Given the description of an element on the screen output the (x, y) to click on. 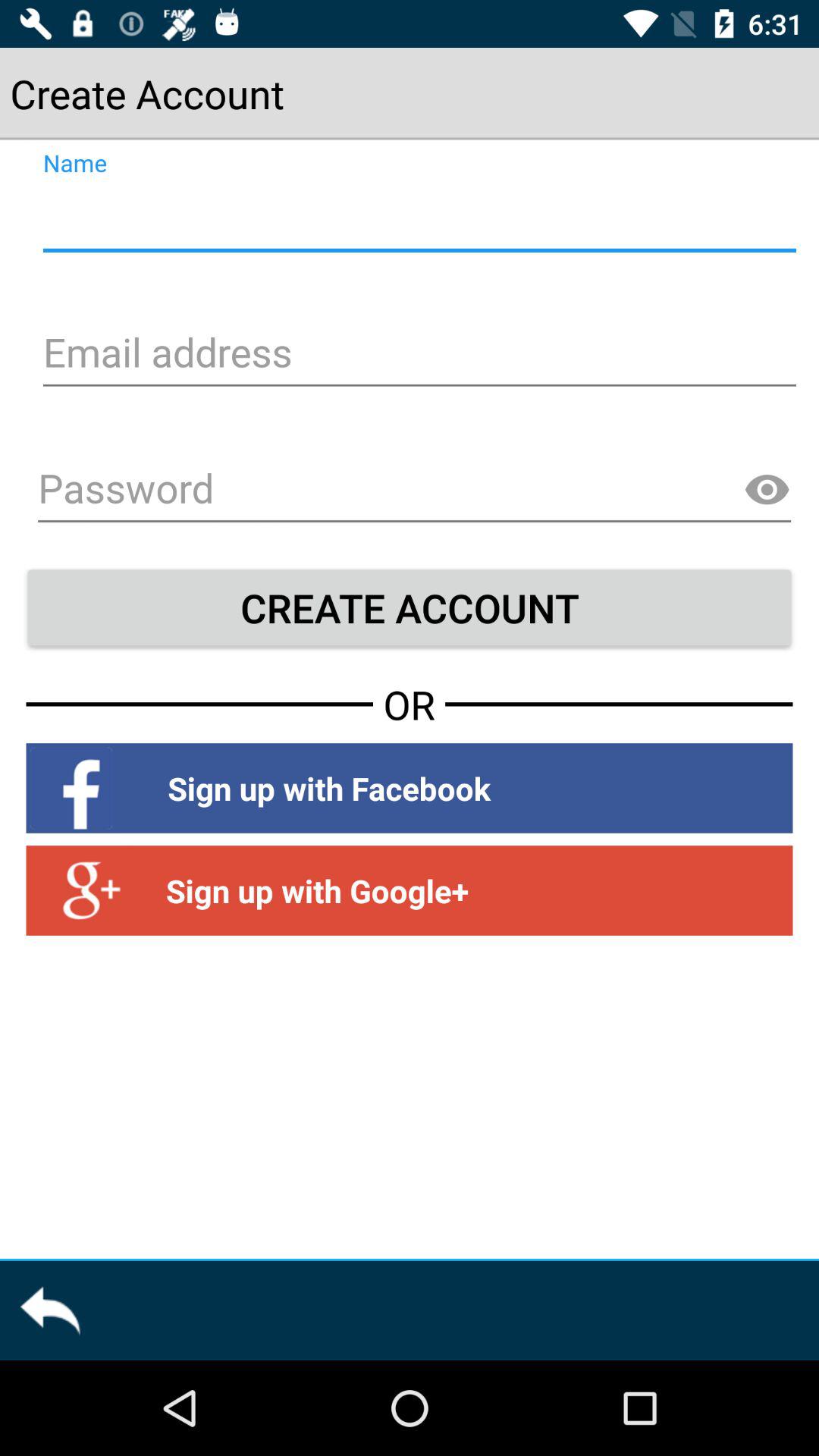
go back (49, 1310)
